Given the description of an element on the screen output the (x, y) to click on. 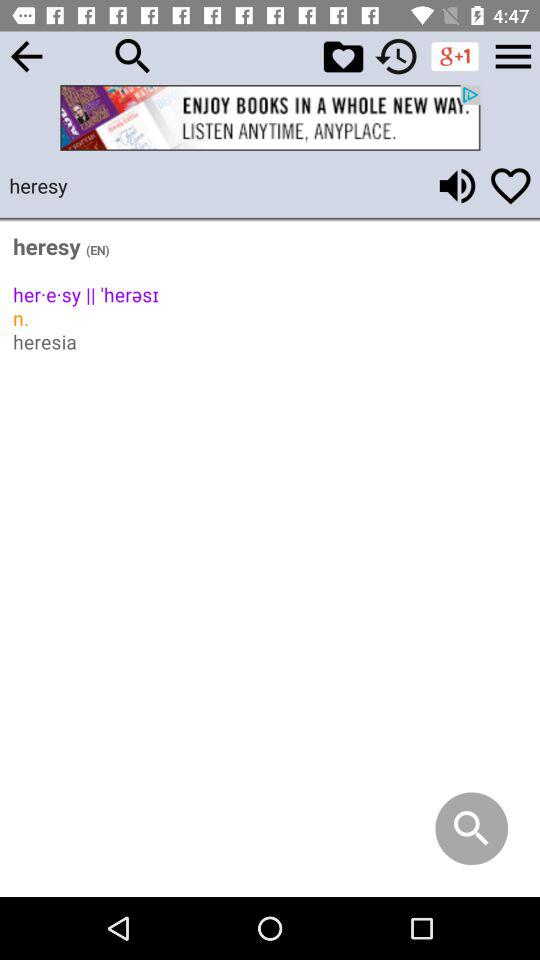
add to favorites (510, 185)
